Given the description of an element on the screen output the (x, y) to click on. 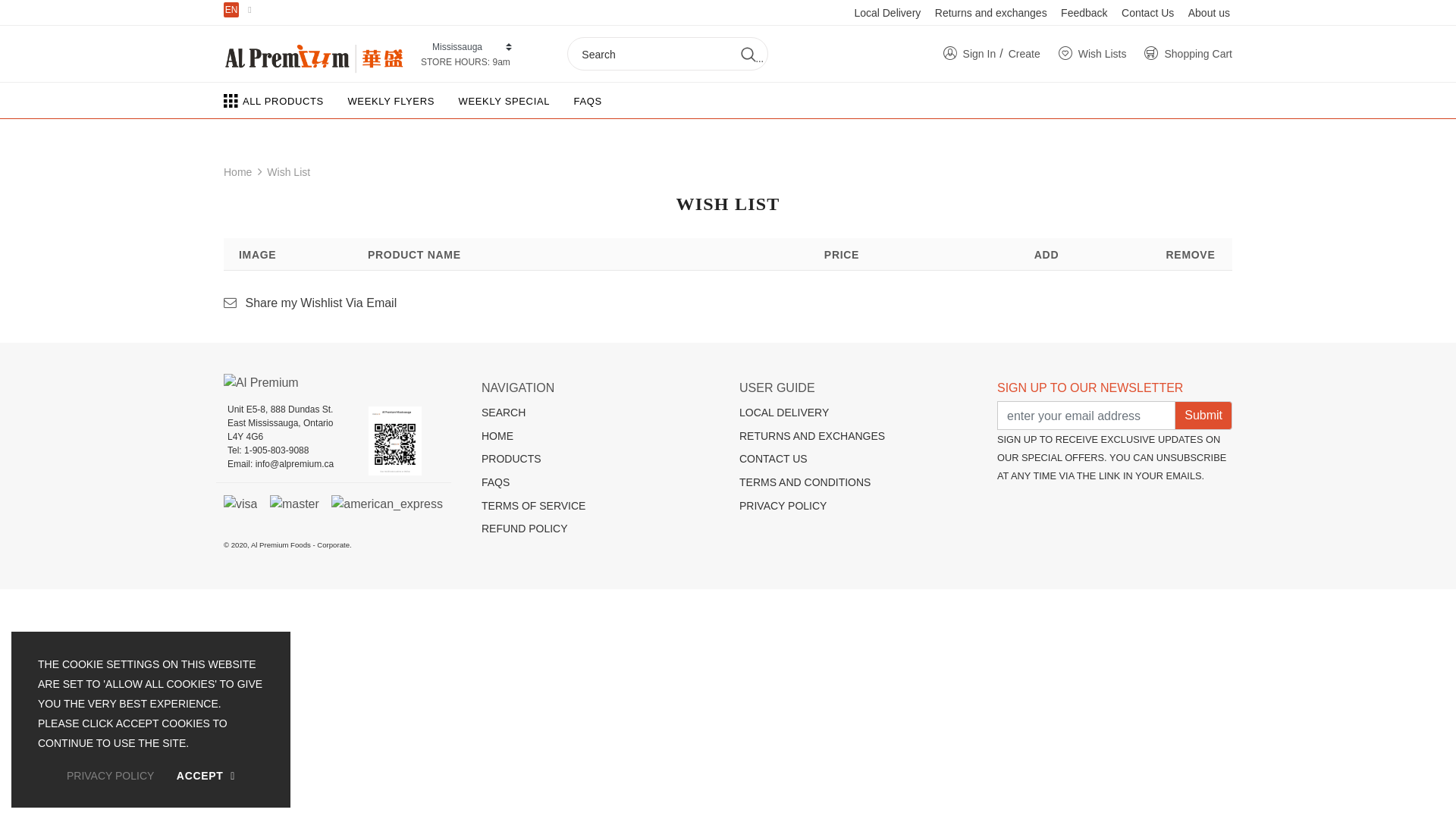
Contact Us Element type: text (1147, 12)
PRODUCTS Element type: text (598, 459)
Feedback Element type: text (1083, 12)
ALL PRODUCTS Element type: text (273, 100)
Local Delivery Element type: text (886, 12)
About us Element type: text (1209, 12)
Home Element type: text (237, 172)
PRIVACY POLICY Element type: text (109, 775)
PRIVACY POLICY Element type: text (856, 505)
LOCAL DELIVERY Element type: text (856, 412)
Share my Wishlist Via Email Element type: text (309, 303)
Create Element type: text (1024, 53)
TERMS AND CONDITIONS Element type: text (856, 482)
FAQS Element type: text (598, 482)
Wish Lists Element type: text (1092, 53)
Submit Element type: text (1203, 415)
CONTACT US Element type: text (856, 459)
EN Element type: text (230, 9)
WEEKLY FLYERS Element type: text (390, 100)
HOME Element type: text (598, 436)
Returns and exchanges Element type: text (991, 12)
REFUND POLICY Element type: text (598, 528)
WEEKLY SPECIAL Element type: text (503, 100)
RETURNS AND EXCHANGES Element type: text (856, 436)
FAQS Element type: text (588, 100)
Shopping Cart Element type: text (1188, 53)
SEARCH Element type: text (598, 412)
Sign In Element type: text (969, 53)
TERMS OF SERVICE Element type: text (598, 505)
